Given the description of an element on the screen output the (x, y) to click on. 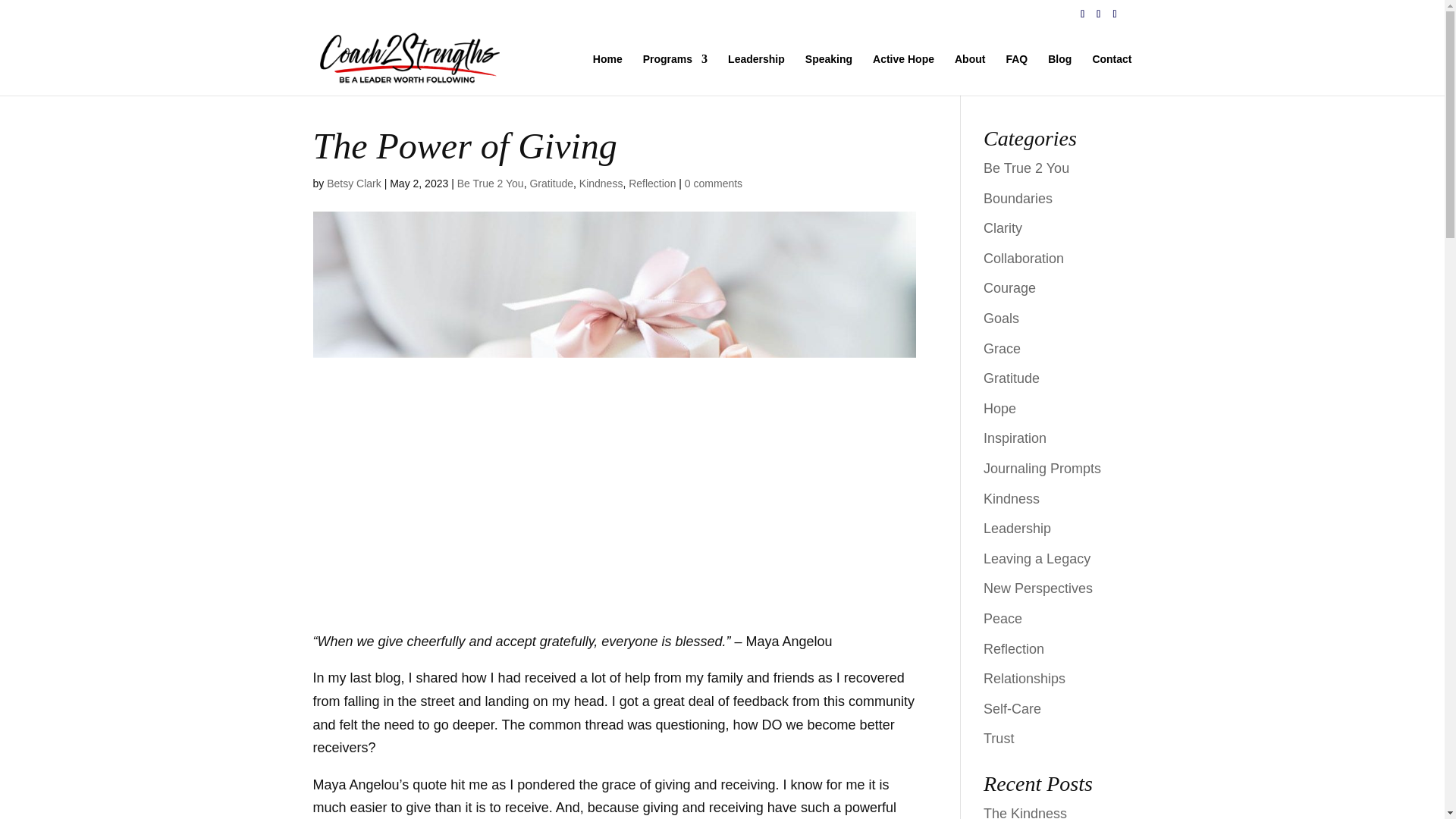
Courage (1009, 287)
Goals (1001, 318)
Boundaries (1018, 198)
Grace (1002, 348)
0 comments (713, 183)
Betsy Clark (353, 183)
Journaling Prompts (1042, 468)
Leadership (756, 74)
Speaking (828, 74)
Gratitude (1011, 378)
